Given the description of an element on the screen output the (x, y) to click on. 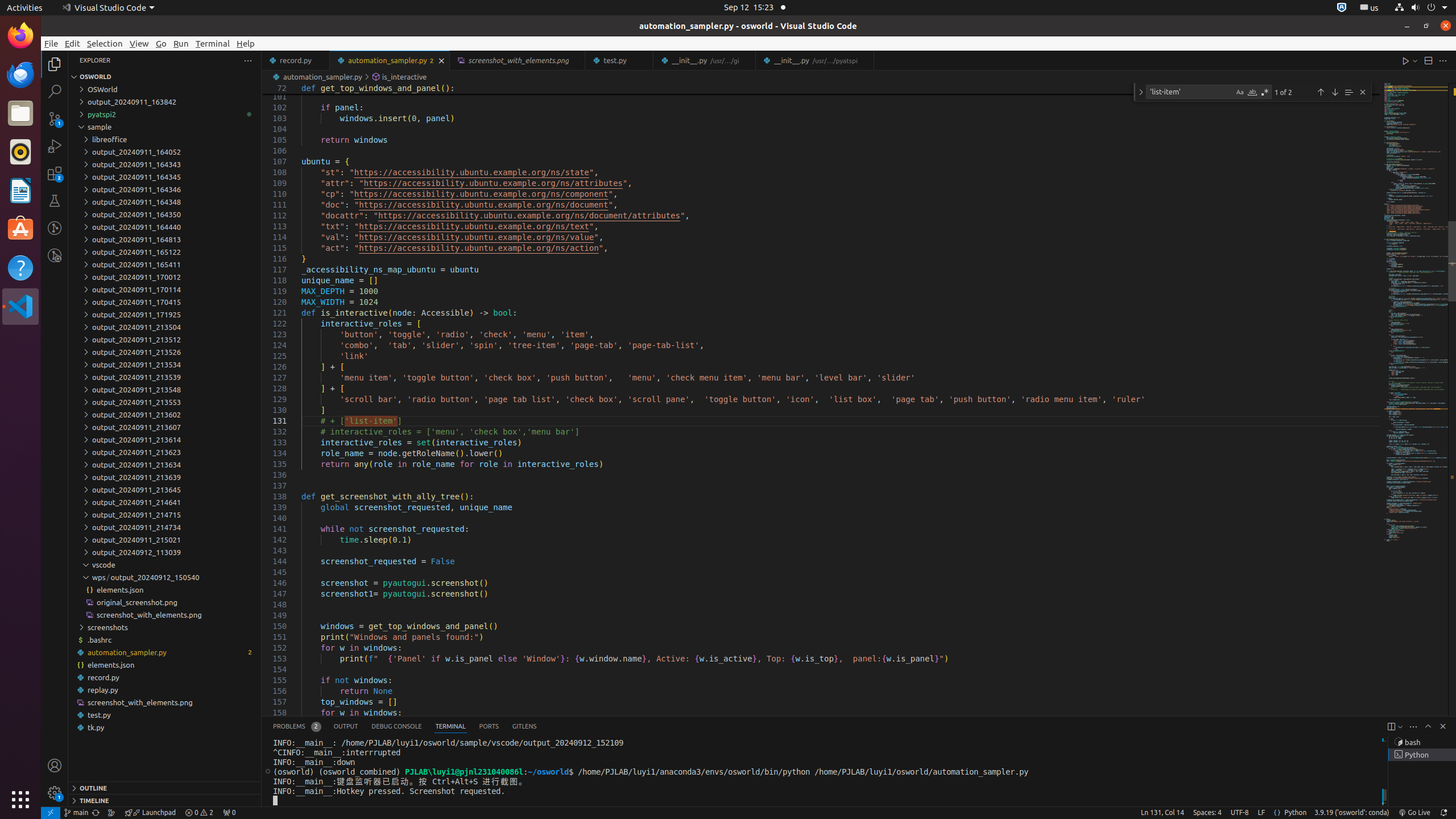
View Element type: push-button (139, 43)
output_20240911_170114 Element type: tree-item (164, 289)
Go Element type: push-button (161, 43)
